Given the description of an element on the screen output the (x, y) to click on. 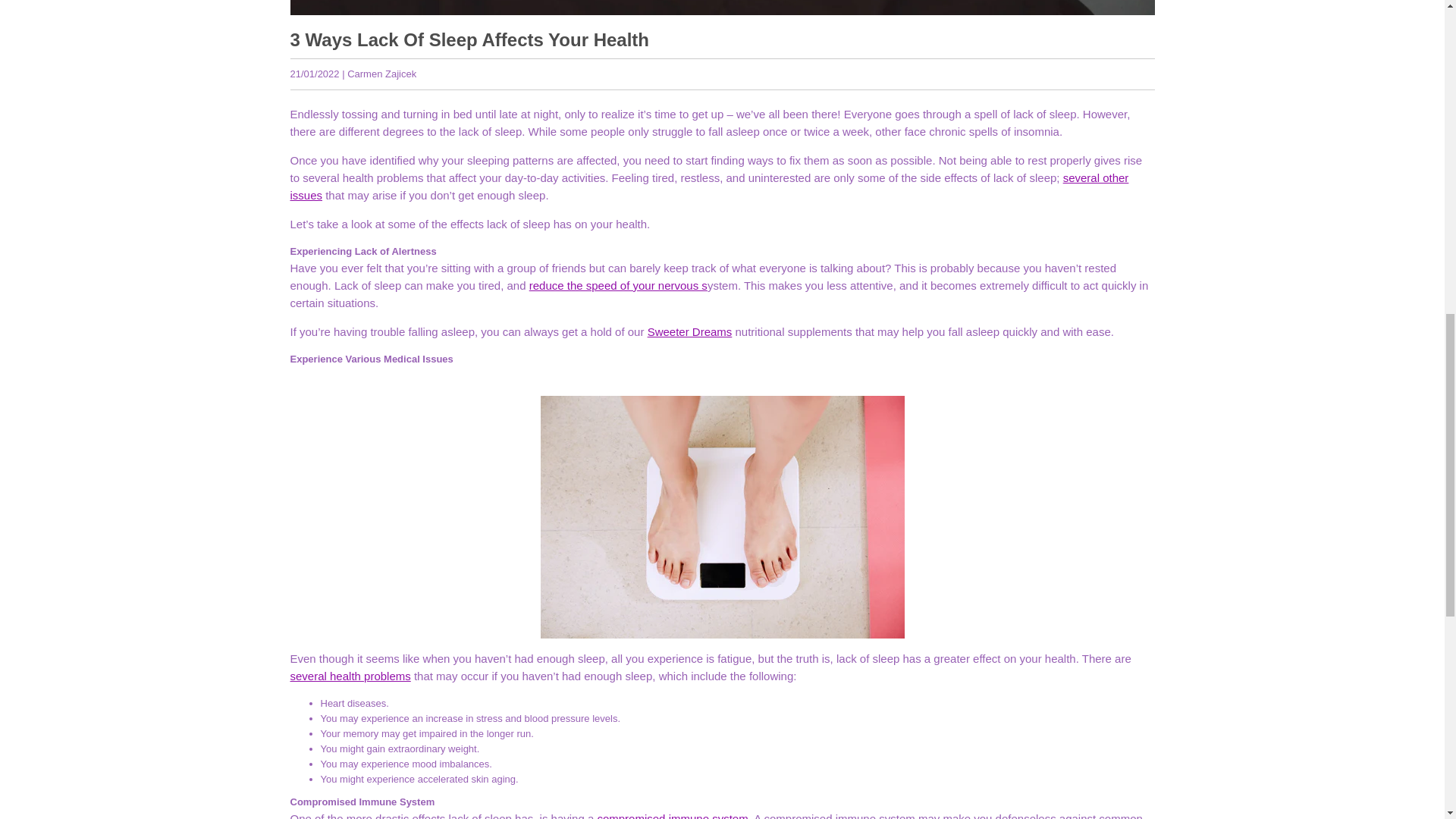
reduce the speed of your nervous s (618, 285)
several other issues (708, 186)
several health problems (349, 675)
Sweeter Dreams (689, 331)
compromised immune system (672, 815)
